Given the description of an element on the screen output the (x, y) to click on. 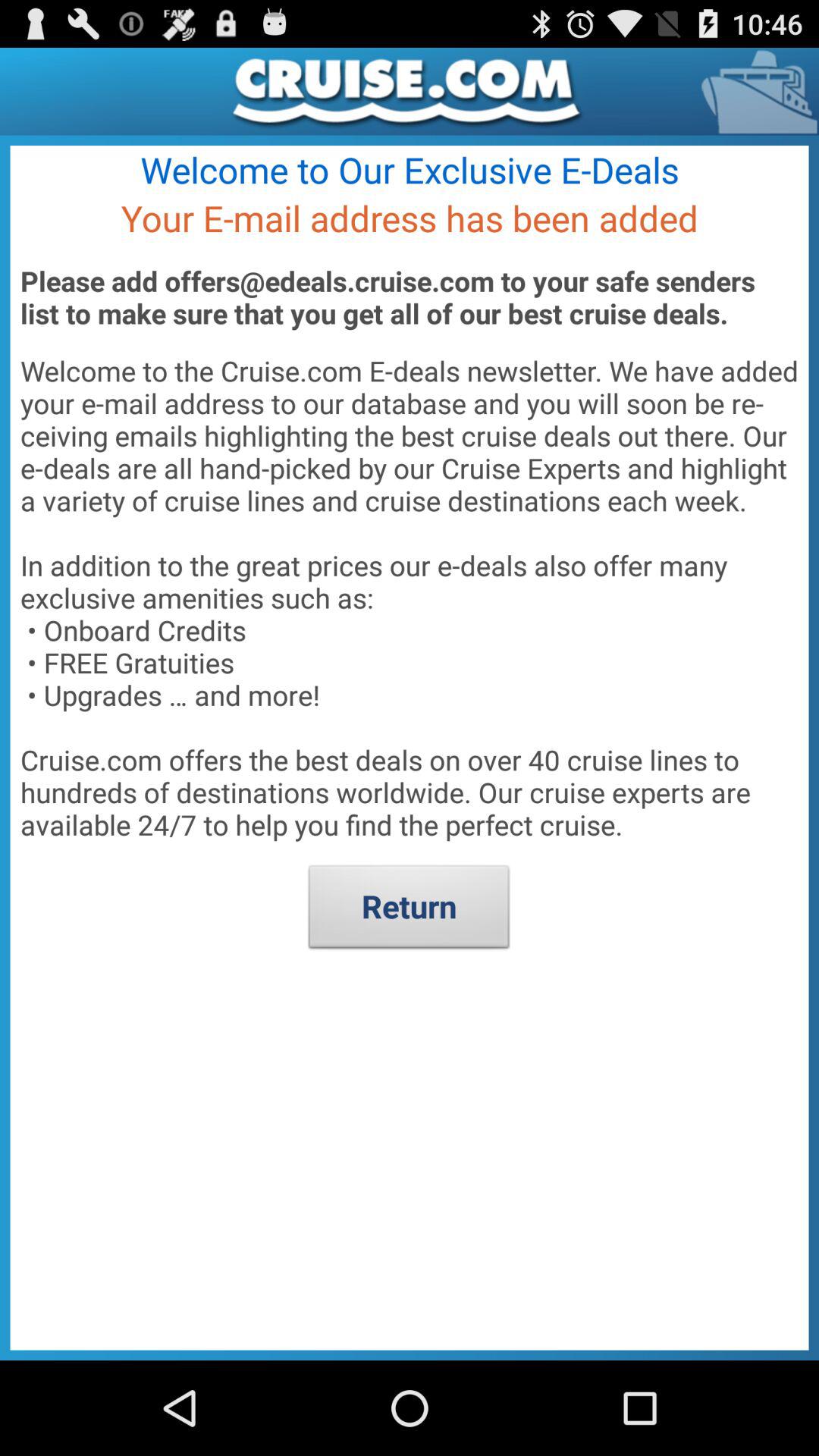
open return (409, 910)
